Given the description of an element on the screen output the (x, y) to click on. 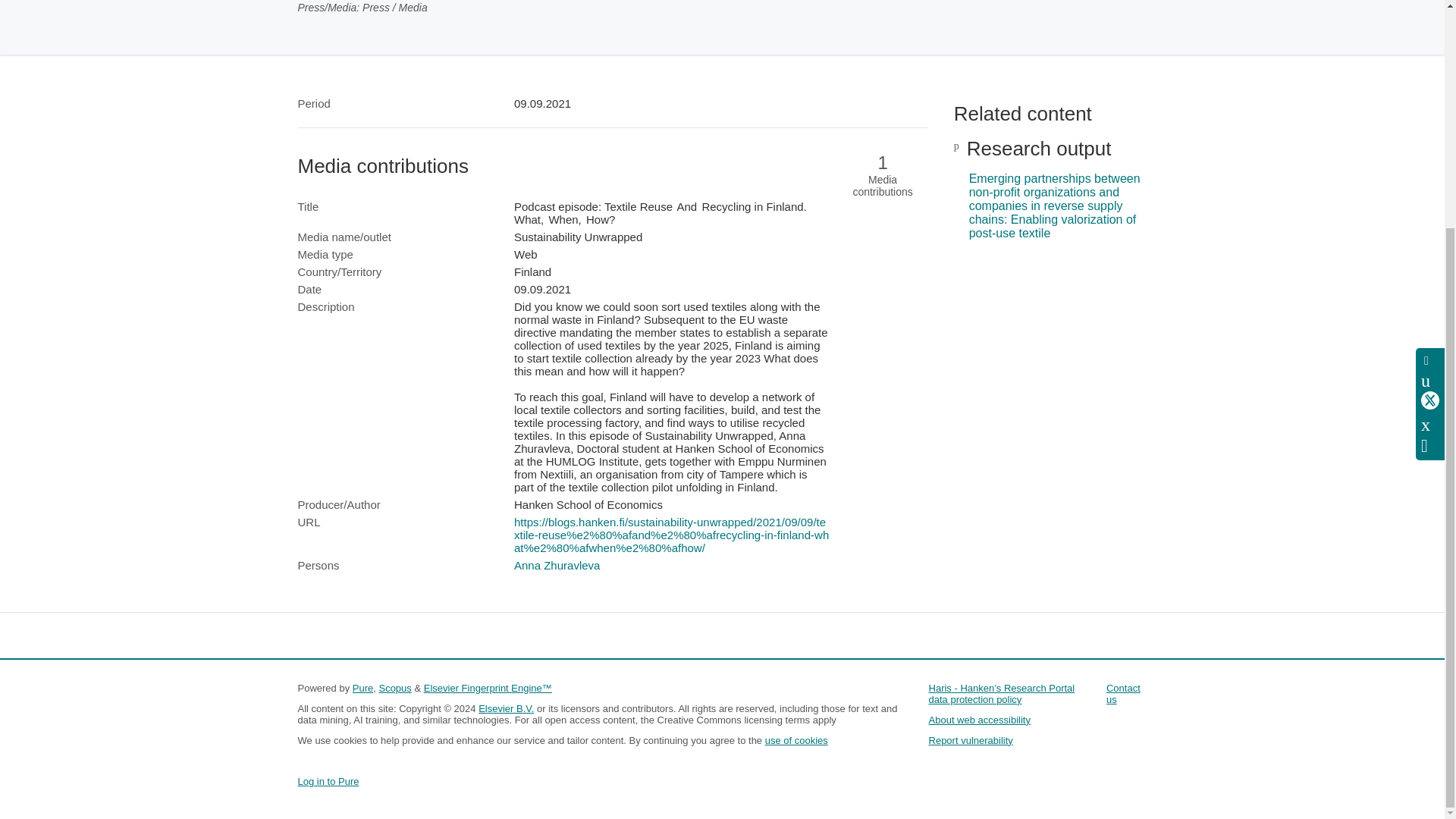
Pure (362, 687)
Log in to Pure (327, 781)
X (1430, 93)
Scopus (394, 687)
use of cookies (796, 740)
About web accessibility (979, 719)
Anna Zhuravleva (556, 564)
Elsevier B.V. (506, 708)
